Given the description of an element on the screen output the (x, y) to click on. 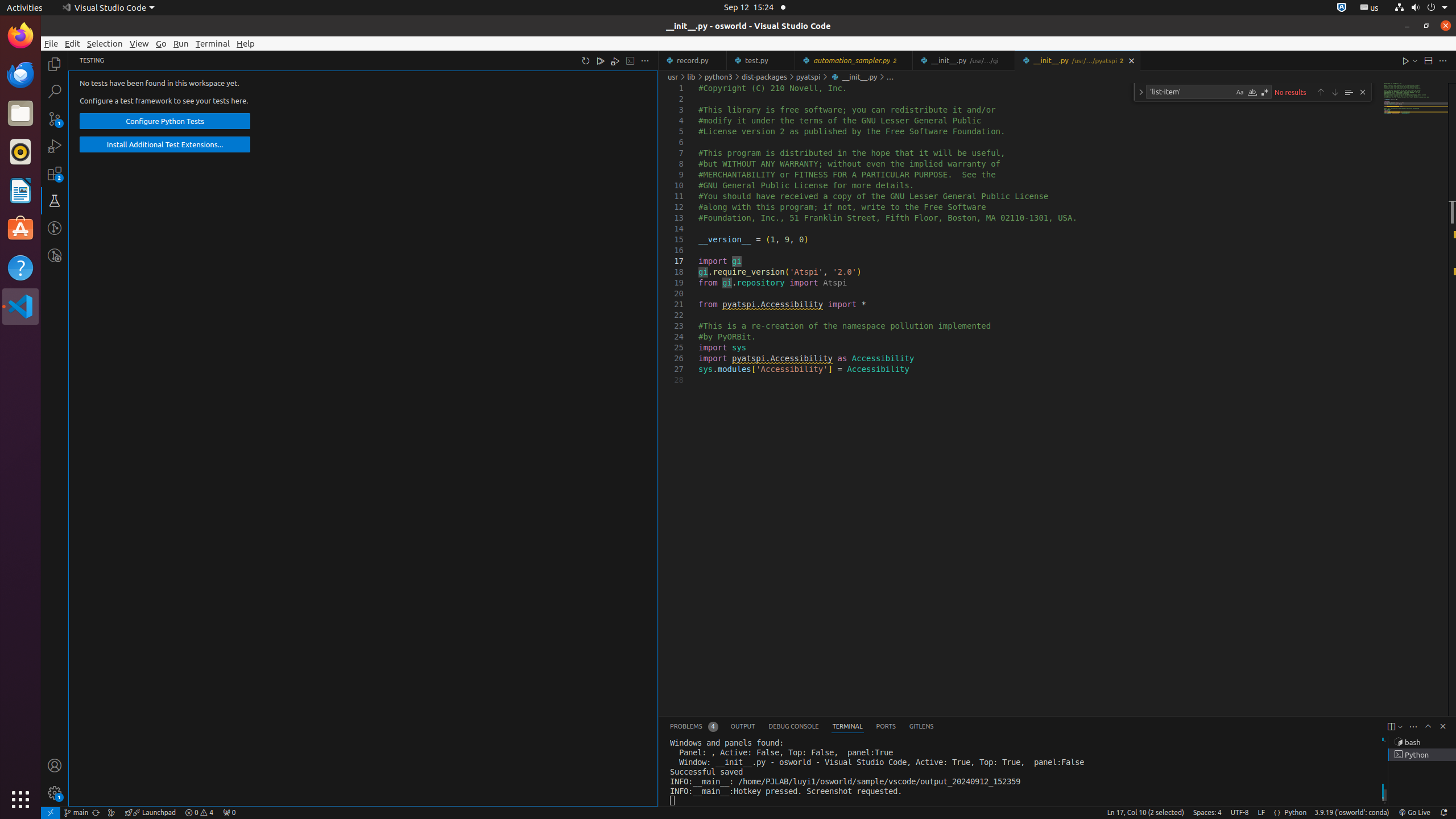
Run Element type: push-button (181, 43)
Terminal 5 Python Element type: list-item (1422, 754)
OSWorld (Git) - Synchronize Changes Element type: push-button (95, 812)
Run and Debug (Ctrl+Shift+D) Element type: page-tab (54, 145)
Manage - New Code update available. Element type: push-button (54, 792)
